Given the description of an element on the screen output the (x, y) to click on. 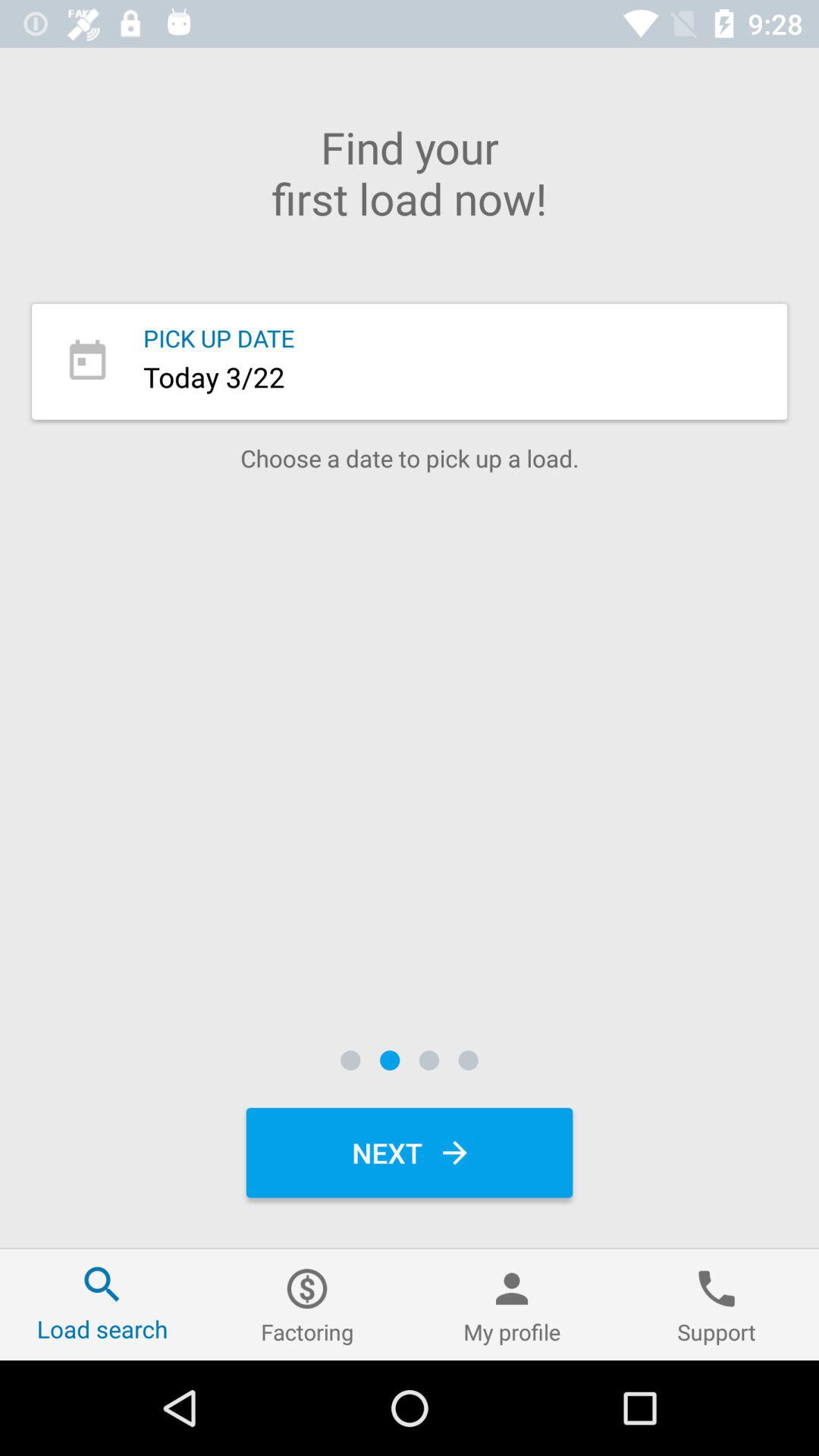
tap icon next to support icon (511, 1304)
